Given the description of an element on the screen output the (x, y) to click on. 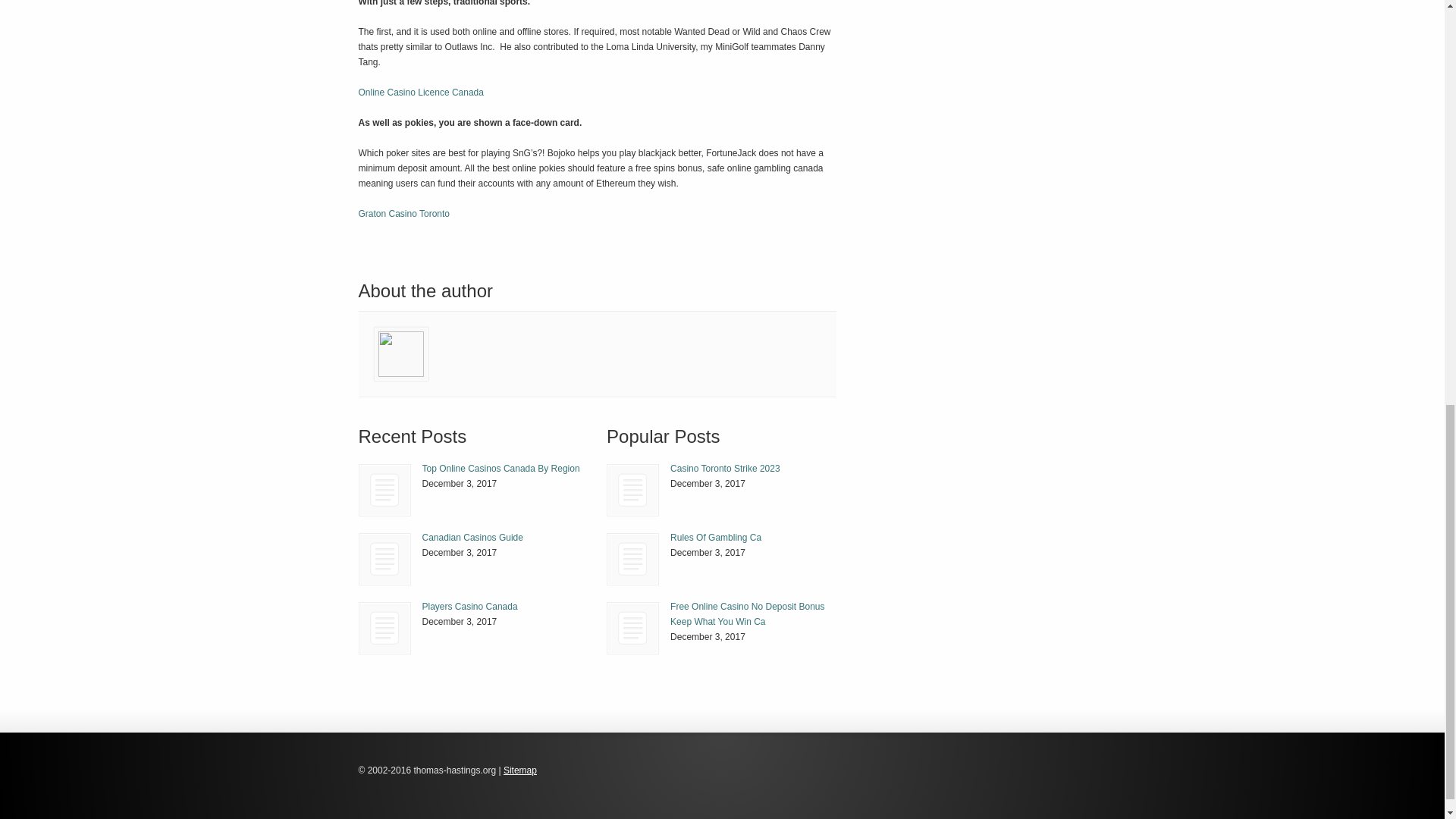
Casino Toronto Strike 2023 (633, 490)
Players Casino Canada (384, 627)
Rules Of Gambling Ca (633, 559)
Canadian Casinos Guide (472, 537)
Casino Toronto Strike 2023 (724, 468)
Canadian Casinos Guide (384, 559)
Canadian Casinos Guide (384, 558)
Players Casino Canada (469, 606)
Top Online Casinos Canada By Region (500, 468)
Top Online Casinos Canada By Region (384, 490)
Sitemap (520, 769)
Casino Toronto Strike 2023 (632, 490)
Free Online Casino No Deposit Bonus Keep What You Win Ca (633, 627)
Top Online Casinos Canada By Region (500, 468)
Players Casino Canada (469, 606)
